Given the description of an element on the screen output the (x, y) to click on. 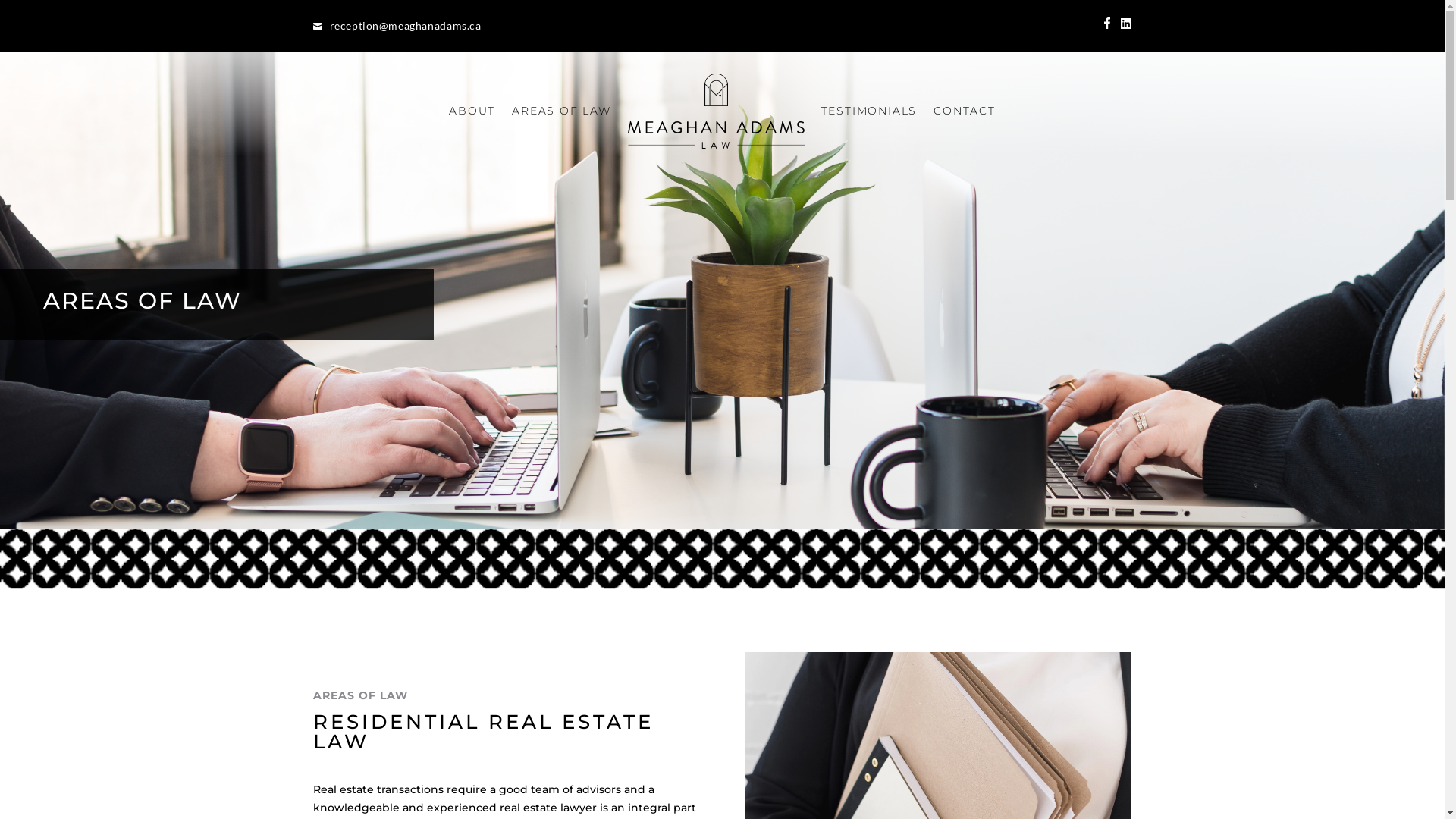
Group 201 Element type: hover (722, 559)
AREAS OF LAW Element type: text (561, 110)
CONTACT Element type: text (964, 110)
ABOUT Element type: text (471, 110)
TESTIMONIALS Element type: text (869, 110)
